Given the description of an element on the screen output the (x, y) to click on. 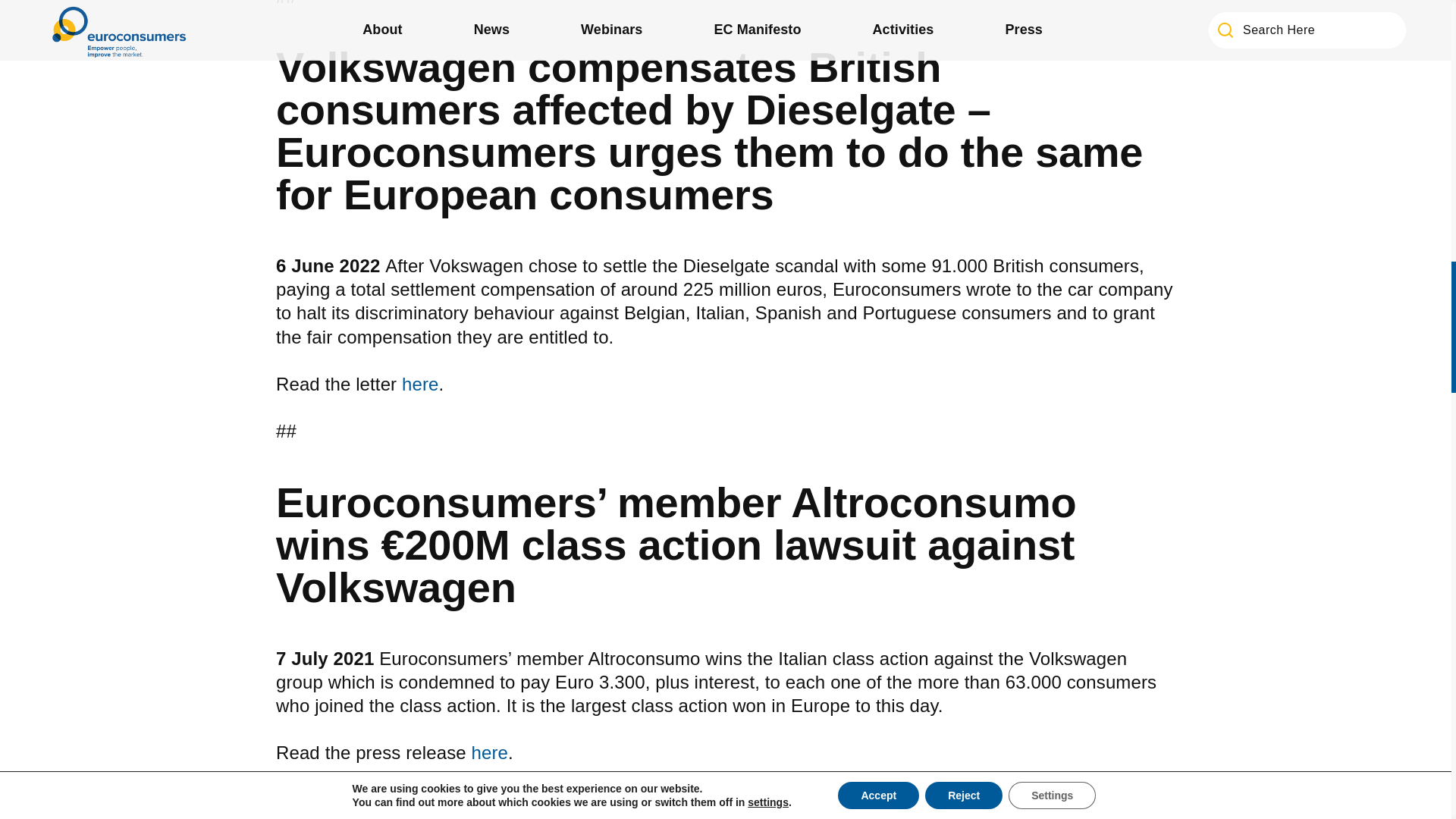
here (489, 752)
here (420, 383)
